Given the description of an element on the screen output the (x, y) to click on. 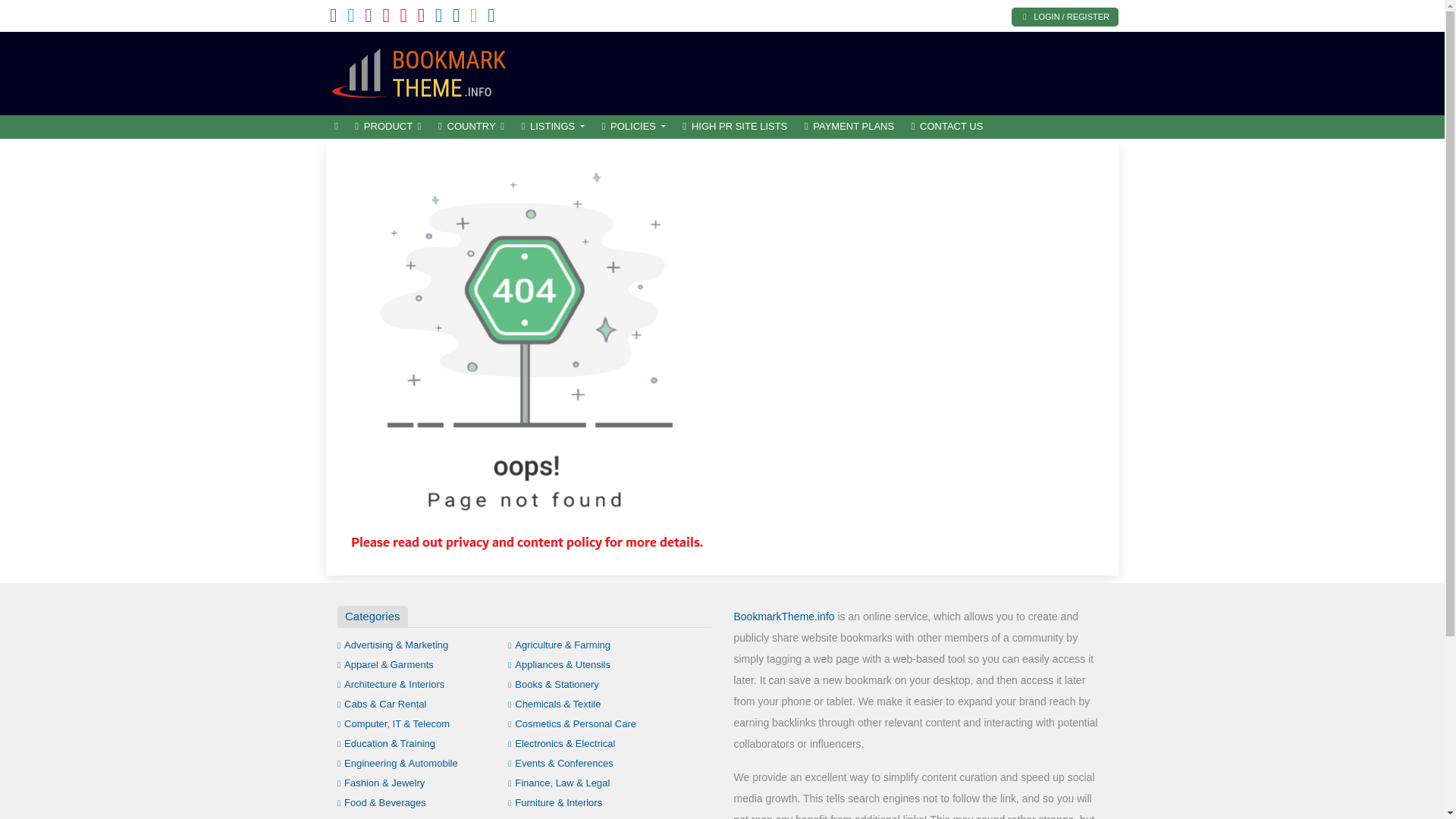
Digital Media and Quality Content Posting Service for SEO (428, 71)
PRODUCT (387, 126)
